Given the description of an element on the screen output the (x, y) to click on. 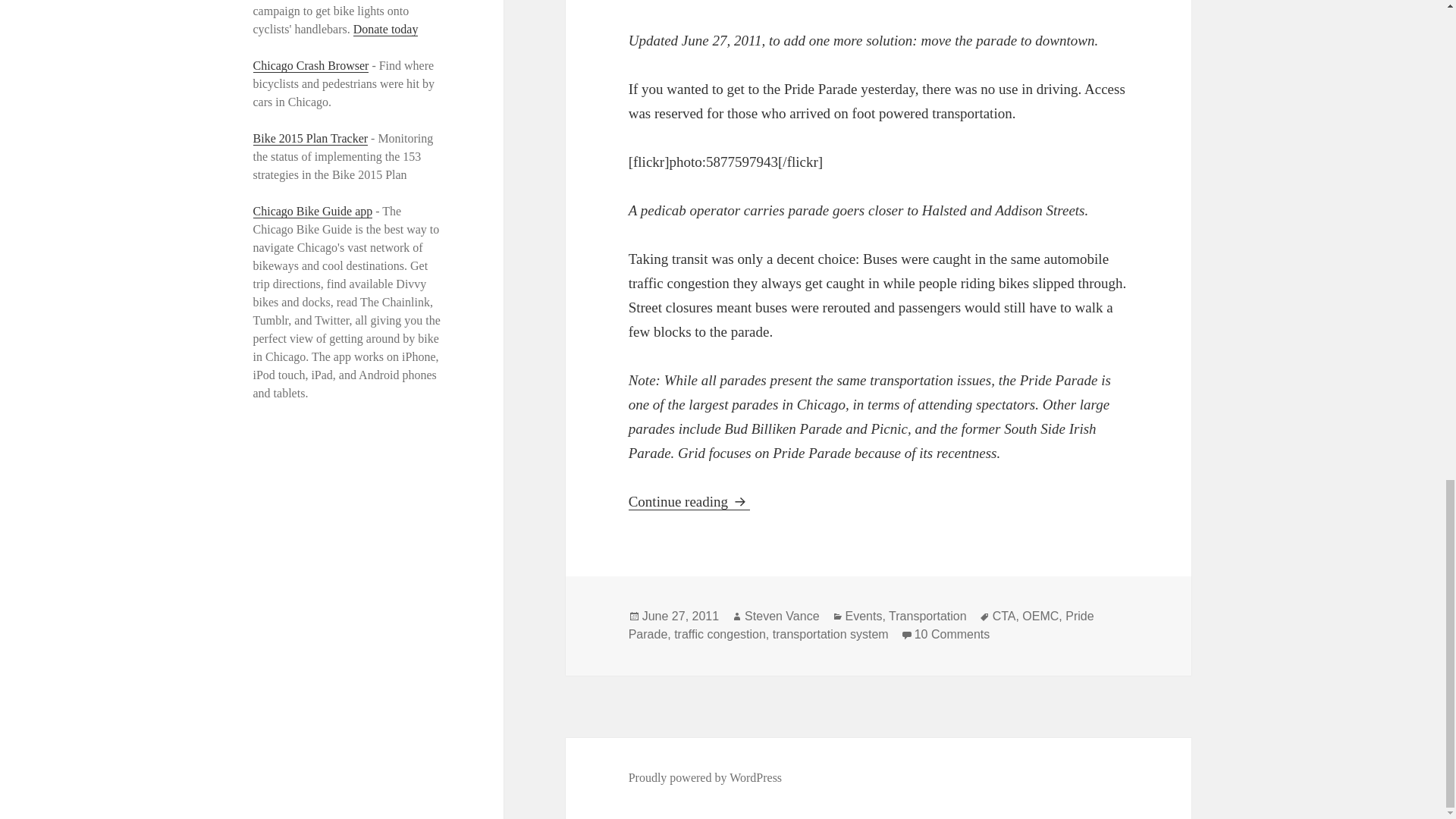
Chicago Crash Browser (311, 65)
Chicago Bike Guide app (312, 211)
Donate today (386, 29)
June 27, 2011 (680, 616)
Bike 2015 Plan Tracker (310, 138)
